Given the description of an element on the screen output the (x, y) to click on. 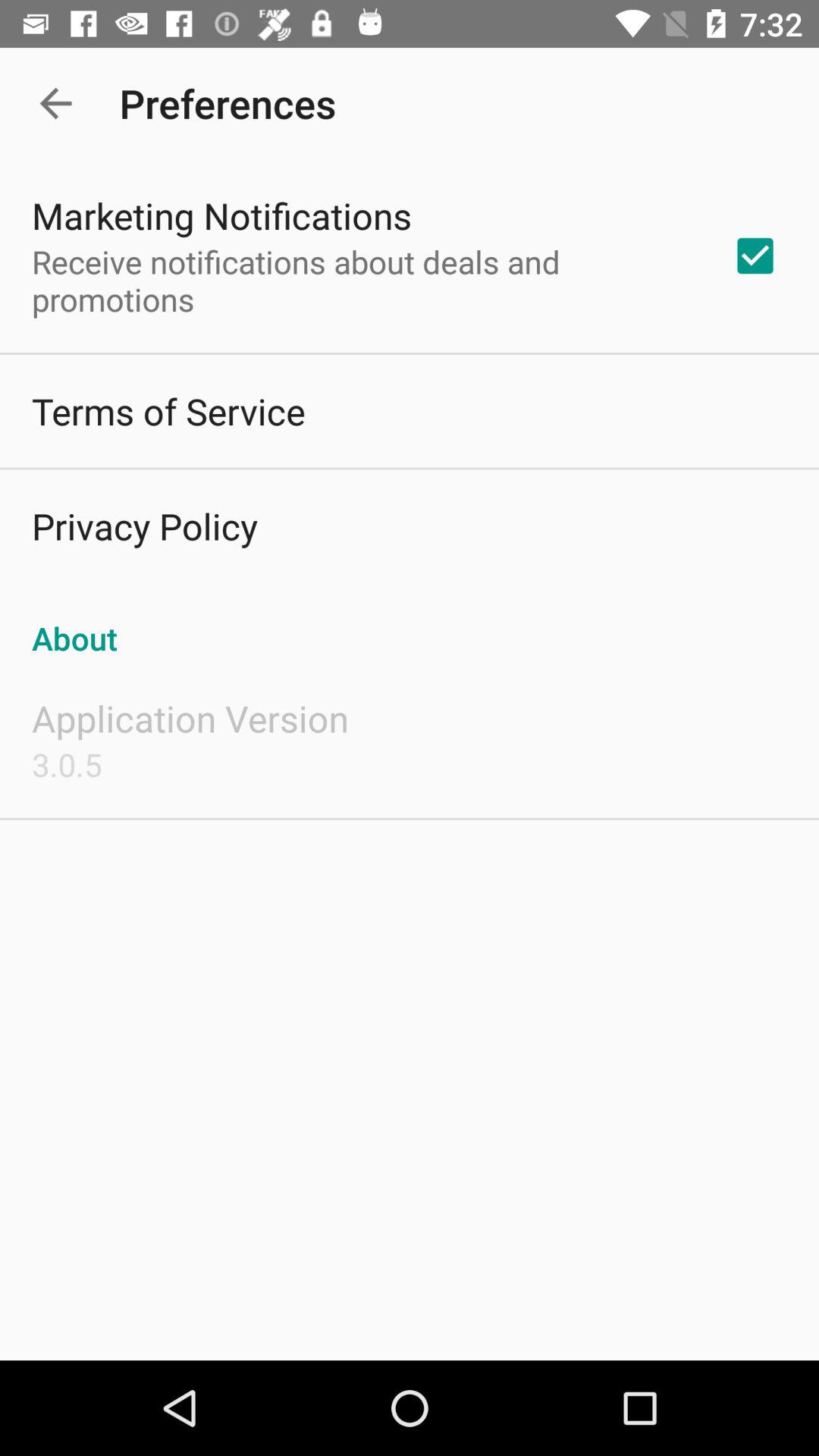
turn on app to the right of the receive notifications about item (755, 255)
